Given the description of an element on the screen output the (x, y) to click on. 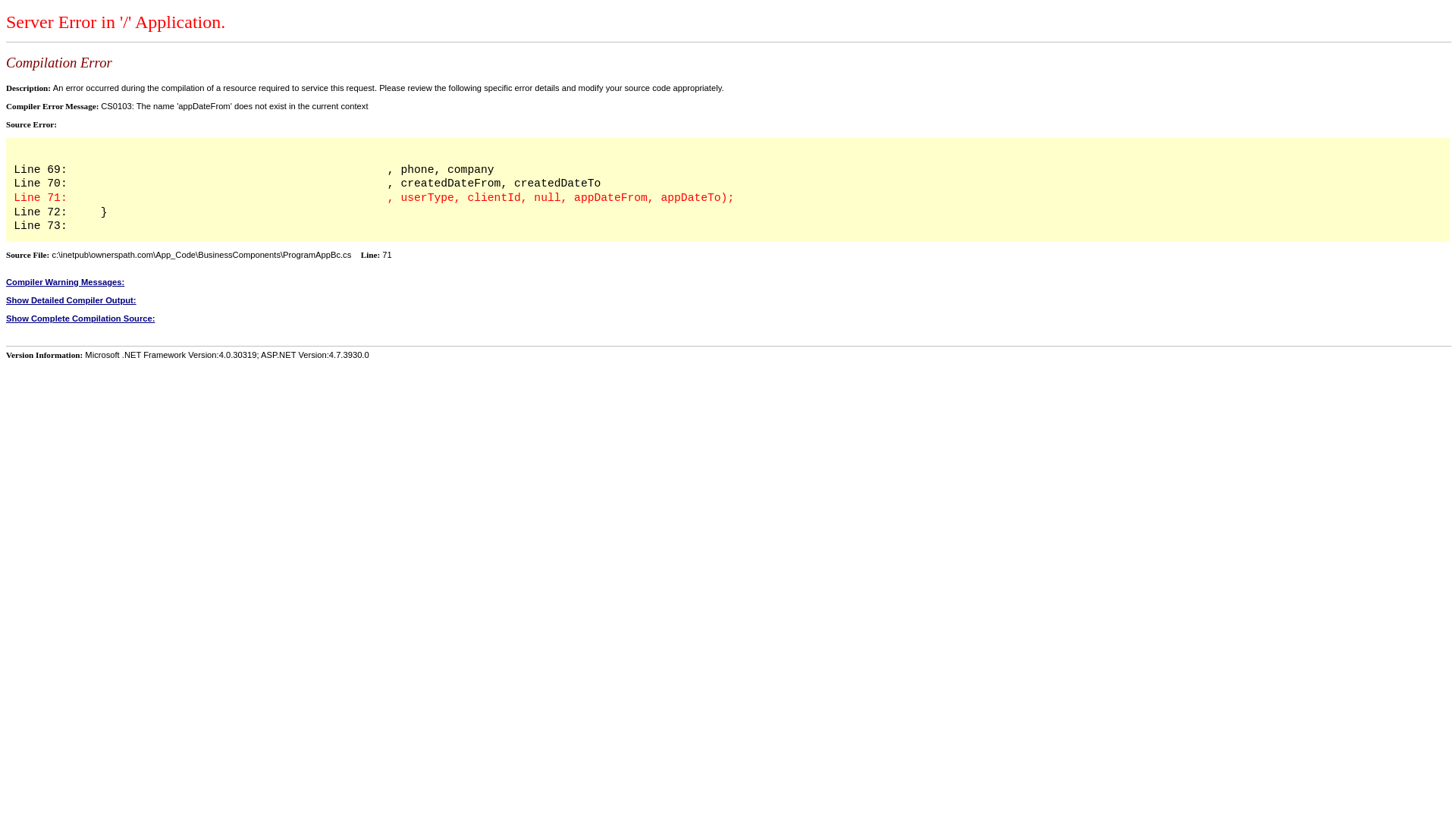
Show Detailed Compiler Output: Element type: text (727, 299)
Compiler Warning Messages: Element type: text (727, 281)
Show Complete Compilation Source: Element type: text (727, 318)
